Given the description of an element on the screen output the (x, y) to click on. 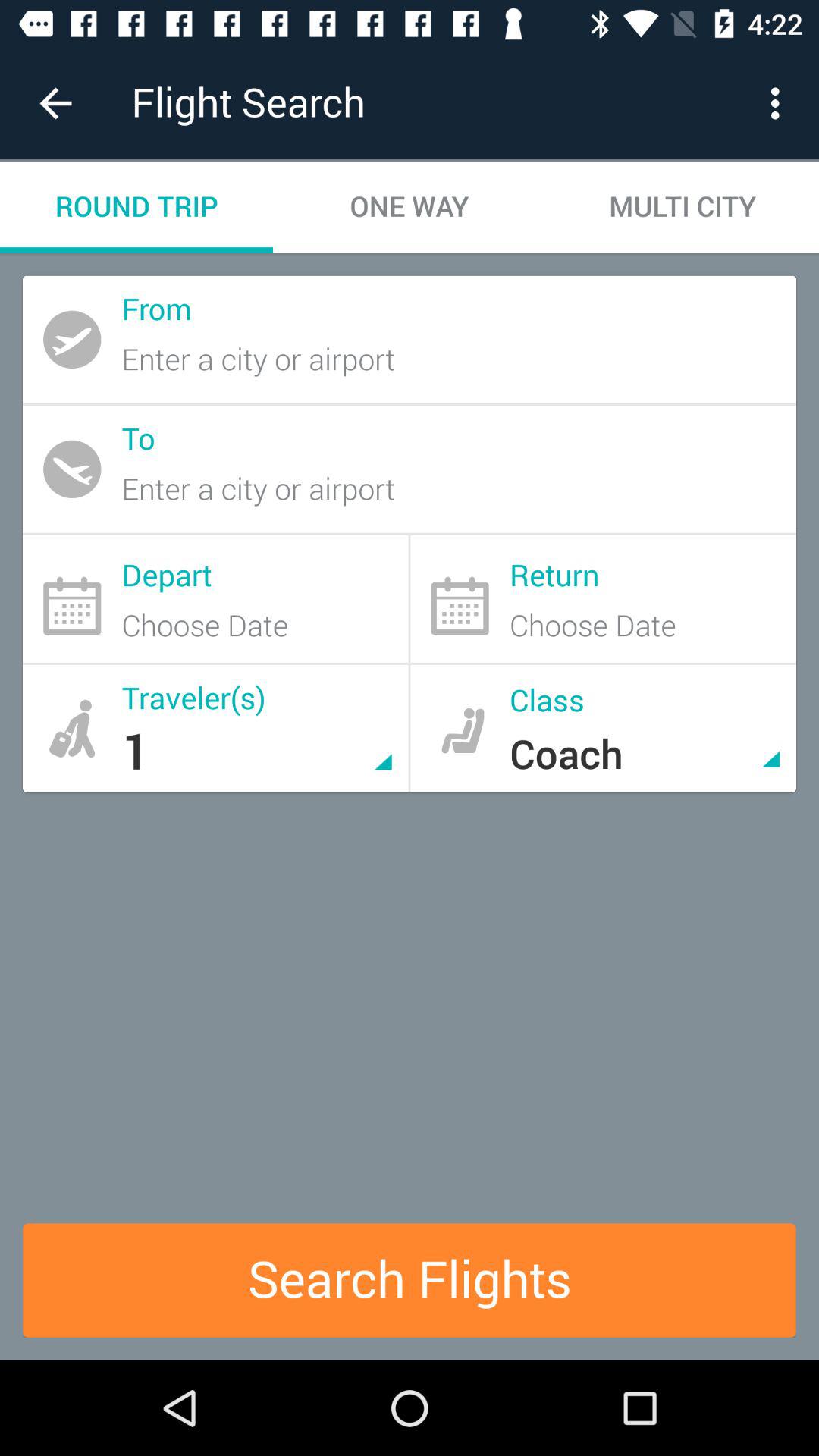
click on the text right to the one way (682, 207)
